Given the description of an element on the screen output the (x, y) to click on. 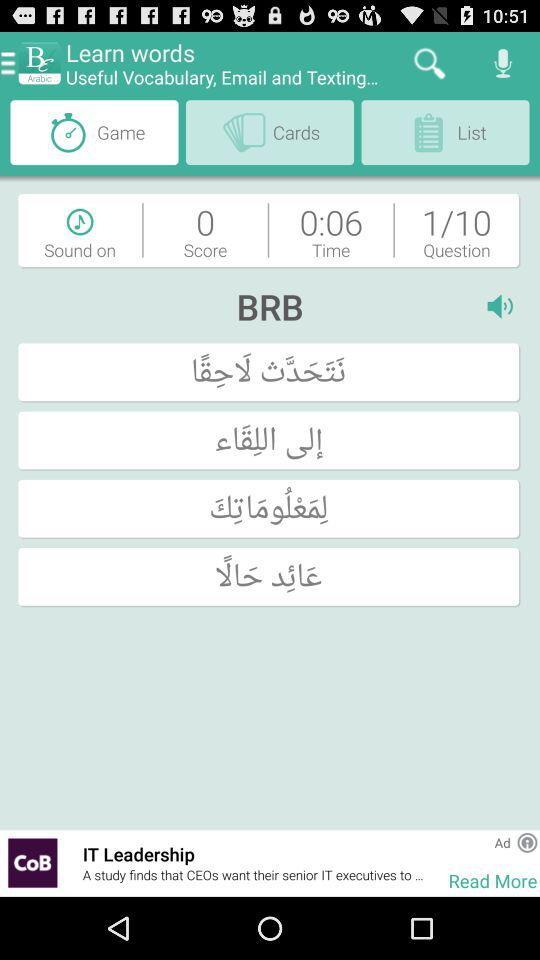
see more information (527, 842)
